Given the description of an element on the screen output the (x, y) to click on. 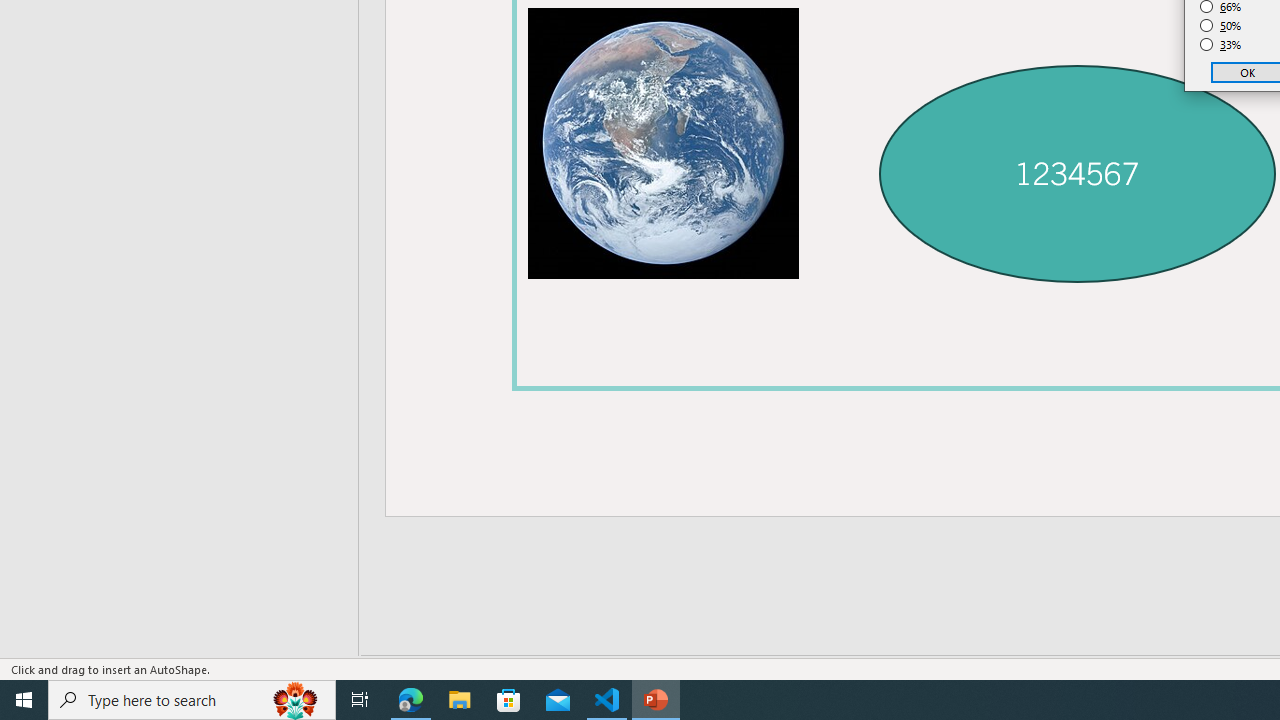
50% (1221, 25)
33% (1221, 44)
